Given the description of an element on the screen output the (x, y) to click on. 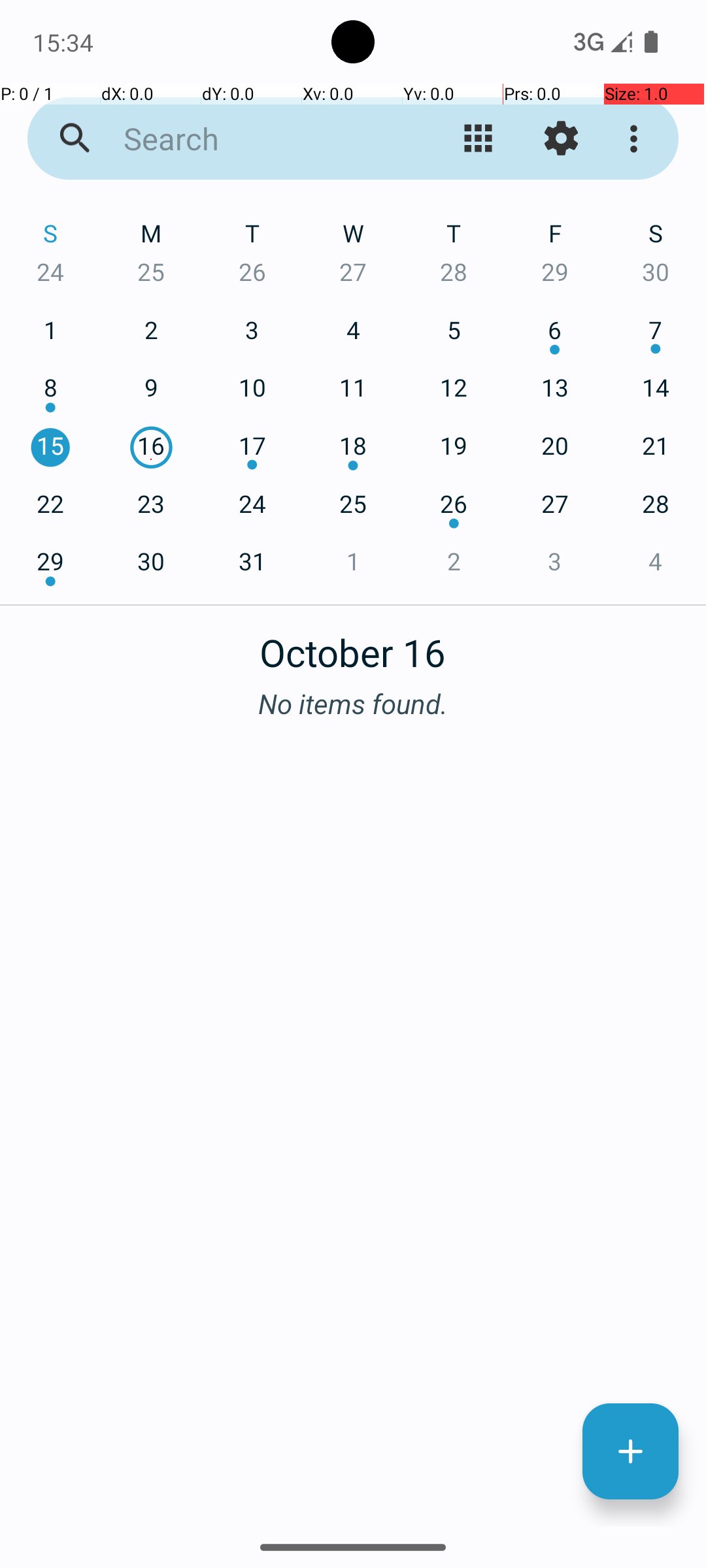
Change view Element type: android.widget.Button (477, 138)
New Event Element type: android.widget.ImageButton (630, 1451)
October 16 Element type: android.widget.TextView (352, 644)
